Given the description of an element on the screen output the (x, y) to click on. 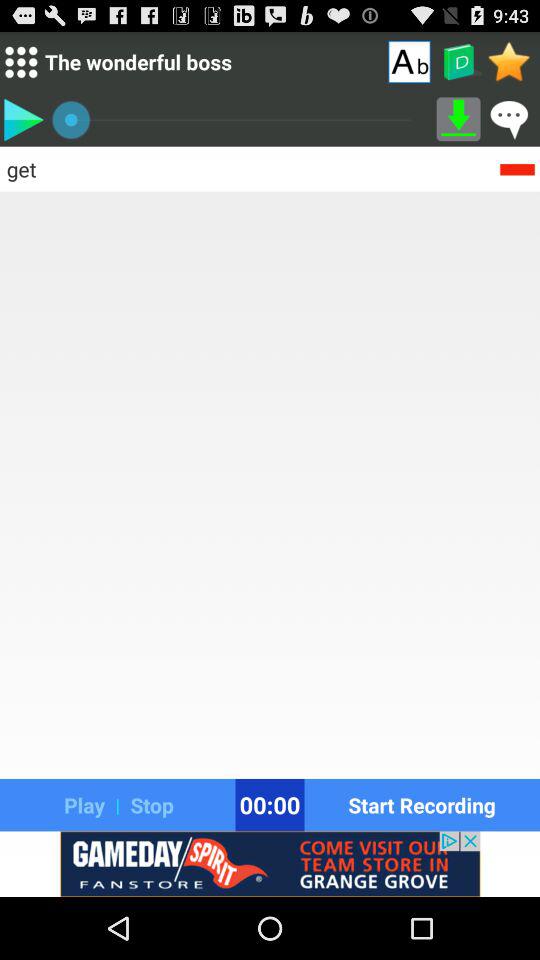
shows letters option (409, 61)
